Given the description of an element on the screen output the (x, y) to click on. 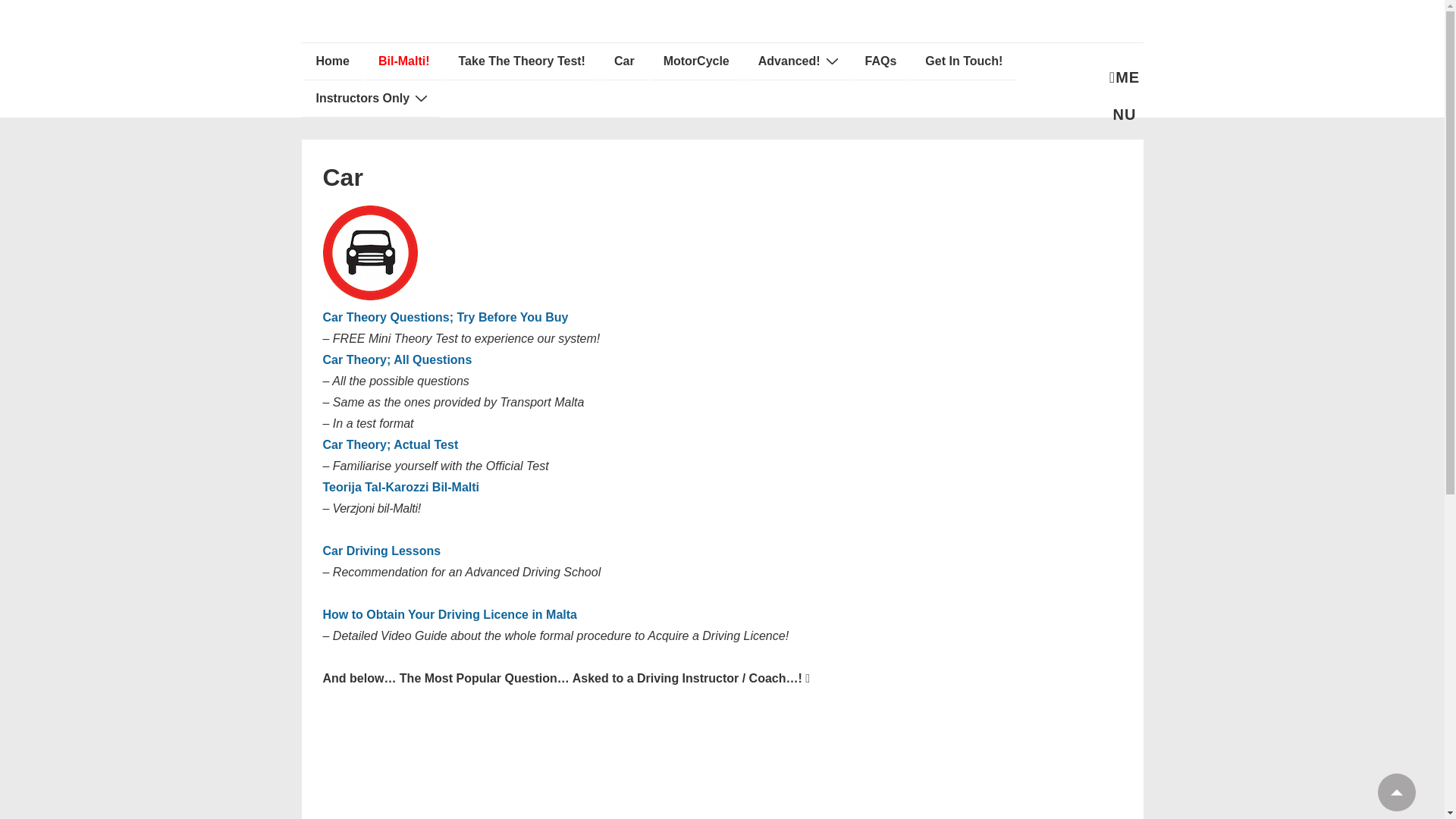
Car (623, 61)
Car Theory Questions; Try Before You Buy (446, 317)
Get In Touch! (963, 61)
Car Theory; Actual Test (390, 444)
Teorija Tal-Karozzi Bil-Malti (401, 486)
Home (331, 61)
Instructors Only (370, 98)
Bil-Malti! (404, 61)
Car Theory; All Questions (397, 359)
In Malta, How Many Lessons to PASS Driving Test!? (722, 764)
